Given the description of an element on the screen output the (x, y) to click on. 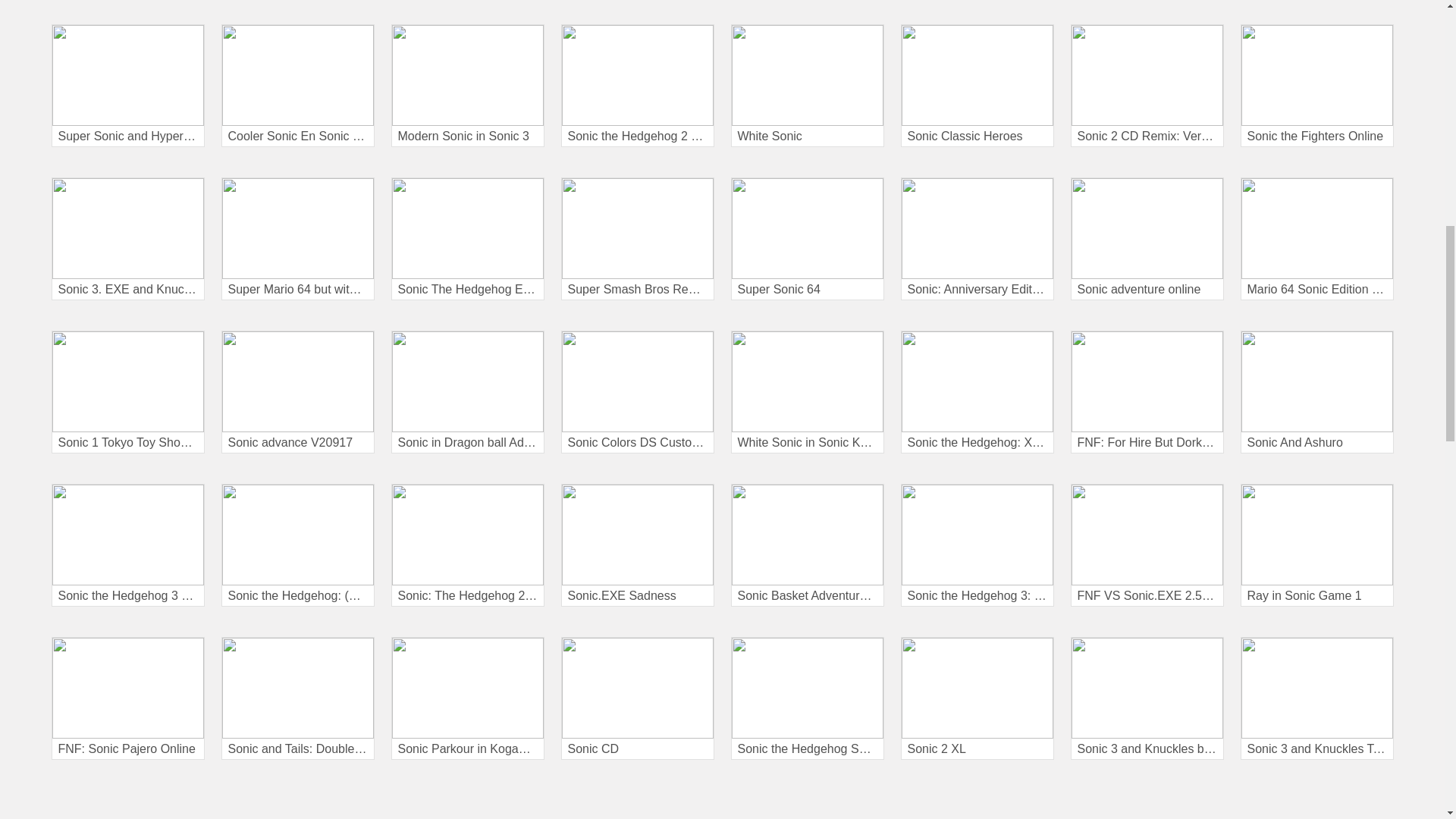
White Sonic (806, 85)
Sonic 2 CD Remix: Vers. 2022 (1147, 85)
Sonic advance V20917 (297, 391)
Sonic Classic Heroes (977, 85)
Modern Sonic in Sonic 3 (467, 85)
Sonic 1 Tokyo Toy Show 1990 Recreation Online (127, 391)
Sonic the Hedgehog 2 Encore Mode (637, 85)
Sonic adventure online (1147, 238)
Mario 64 Sonic Edition Plus V2.2.2 Online (1316, 238)
Super Smash Bros Remix 1.1.1 (637, 238)
Super Sonic and Hyper Sonic in Sonic 1 (127, 85)
Sonic: Anniversary Edition (977, 238)
Sonic 3. EXE and Knuckles Online (127, 238)
Sonic The Hedgehog Encore Mode (467, 238)
Super Sonic and Hyper Sonic in Sonic 1 (127, 85)
